Given the description of an element on the screen output the (x, y) to click on. 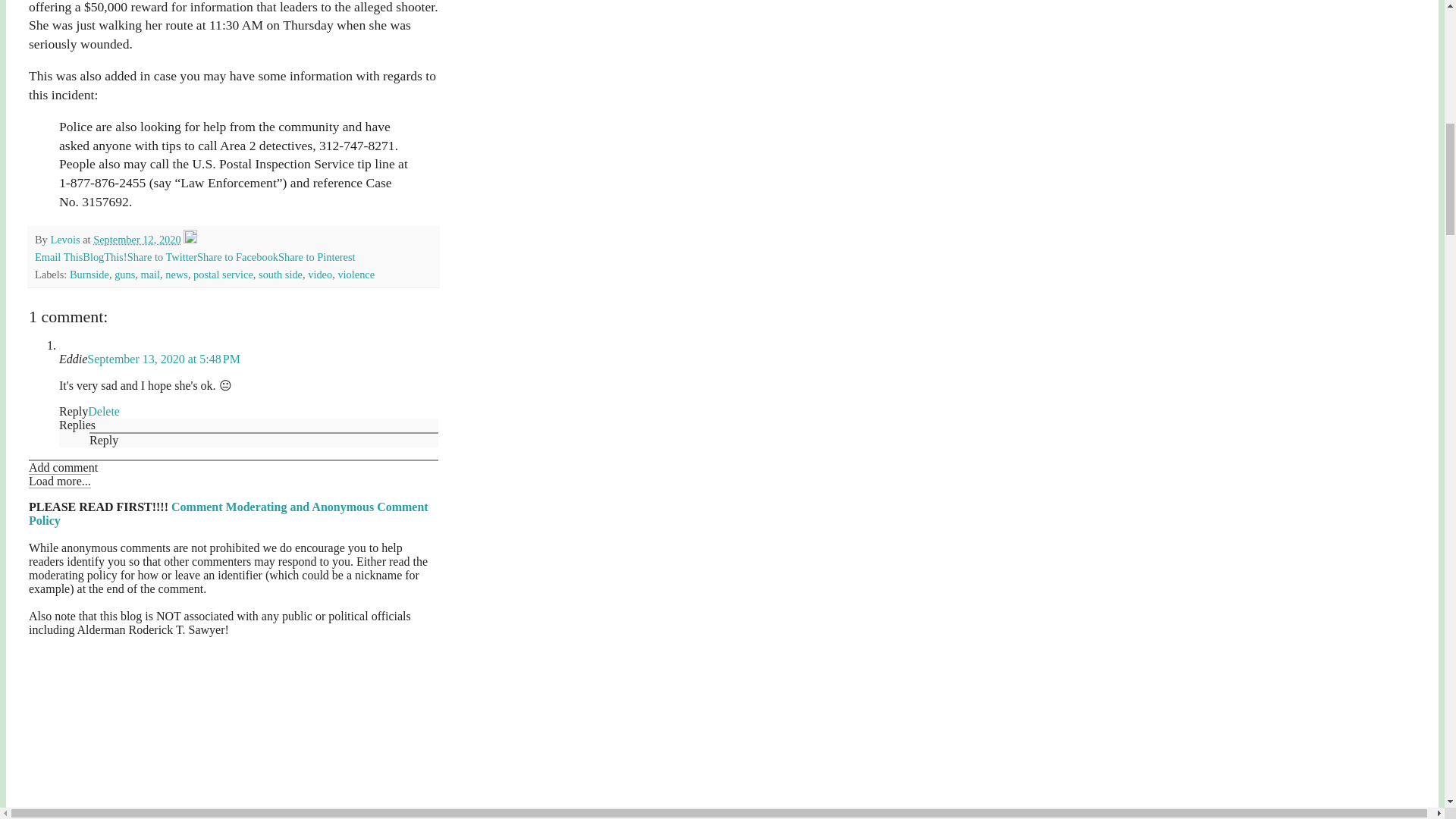
postal service (223, 274)
violence (355, 274)
Share to Facebook (237, 256)
Comment Moderating and Anonymous Comment Policy (228, 513)
Reply (102, 440)
Delete (103, 410)
Replies (77, 424)
news (176, 274)
Levois (65, 239)
author profile (65, 239)
Share to Twitter (162, 256)
Share to Twitter (162, 256)
Share to Pinterest (316, 256)
Edit Post (189, 239)
September 12, 2020 (136, 239)
